Given the description of an element on the screen output the (x, y) to click on. 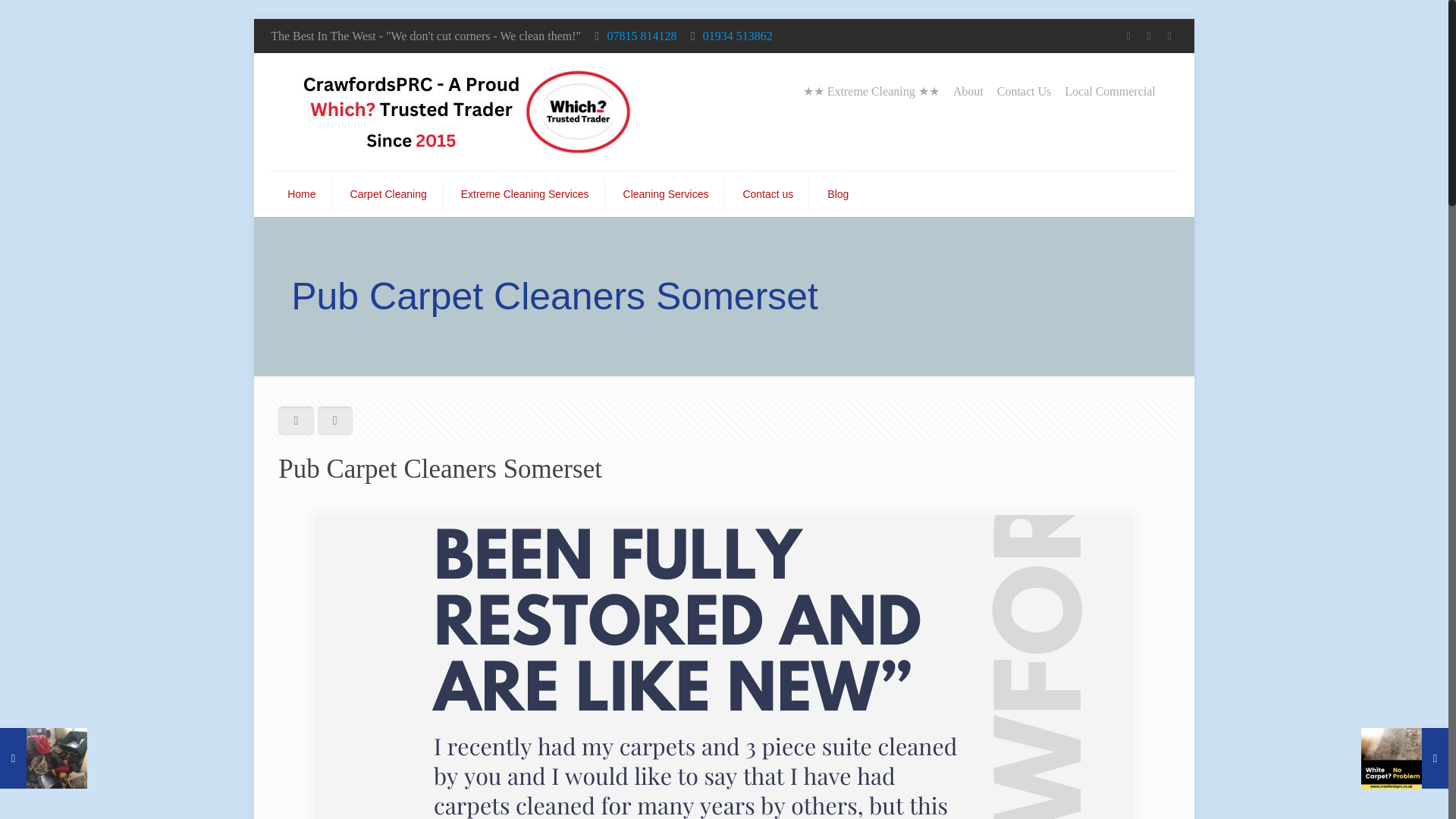
Local Commercial (1110, 91)
Blog (837, 194)
07815 814128 (642, 35)
Contact Us (1024, 91)
Cleaning Services (666, 194)
Facebook (1129, 36)
Contact us (767, 194)
YouTube (1169, 36)
01934 513862 (738, 35)
Carpet Cleaning (388, 194)
